Given the description of an element on the screen output the (x, y) to click on. 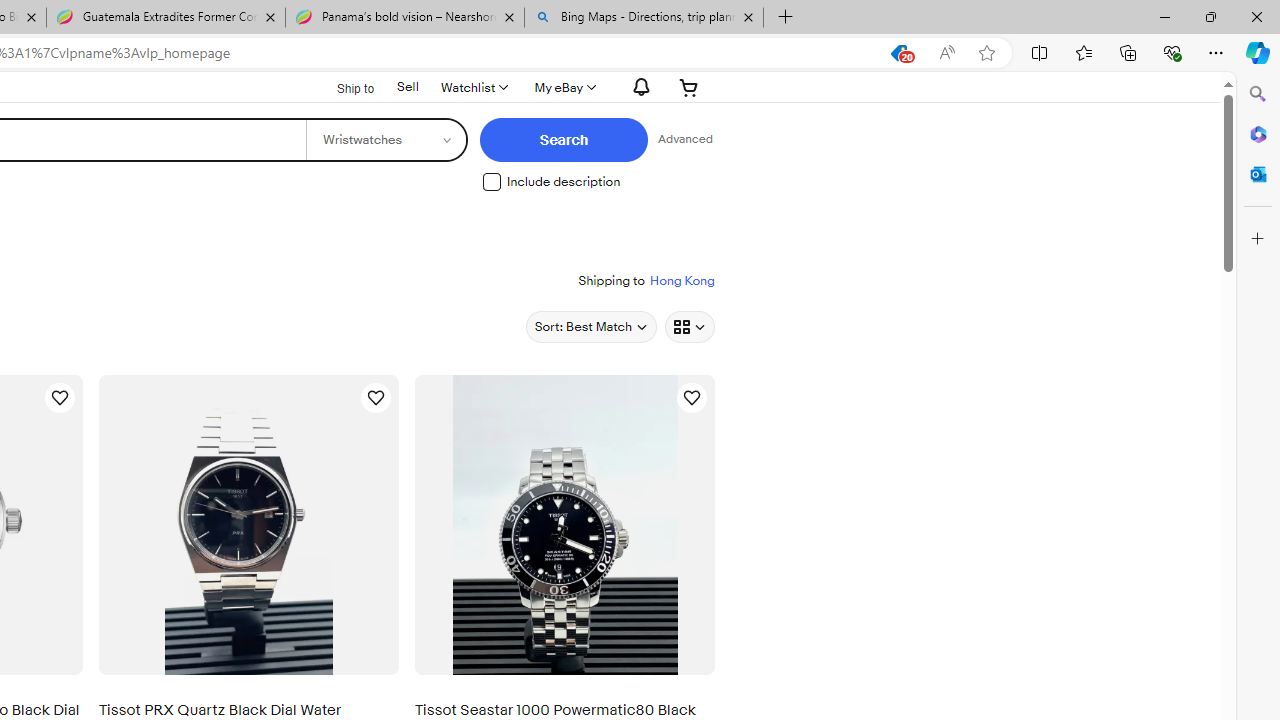
This site has coupons! Shopping in Microsoft Edge, 20 (898, 53)
AutomationID: gh-eb-Alerts (638, 87)
Advanced Search (679, 139)
Watchlist (473, 87)
My eBayExpand My eBay (564, 87)
My eBay (564, 87)
